Given the description of an element on the screen output the (x, y) to click on. 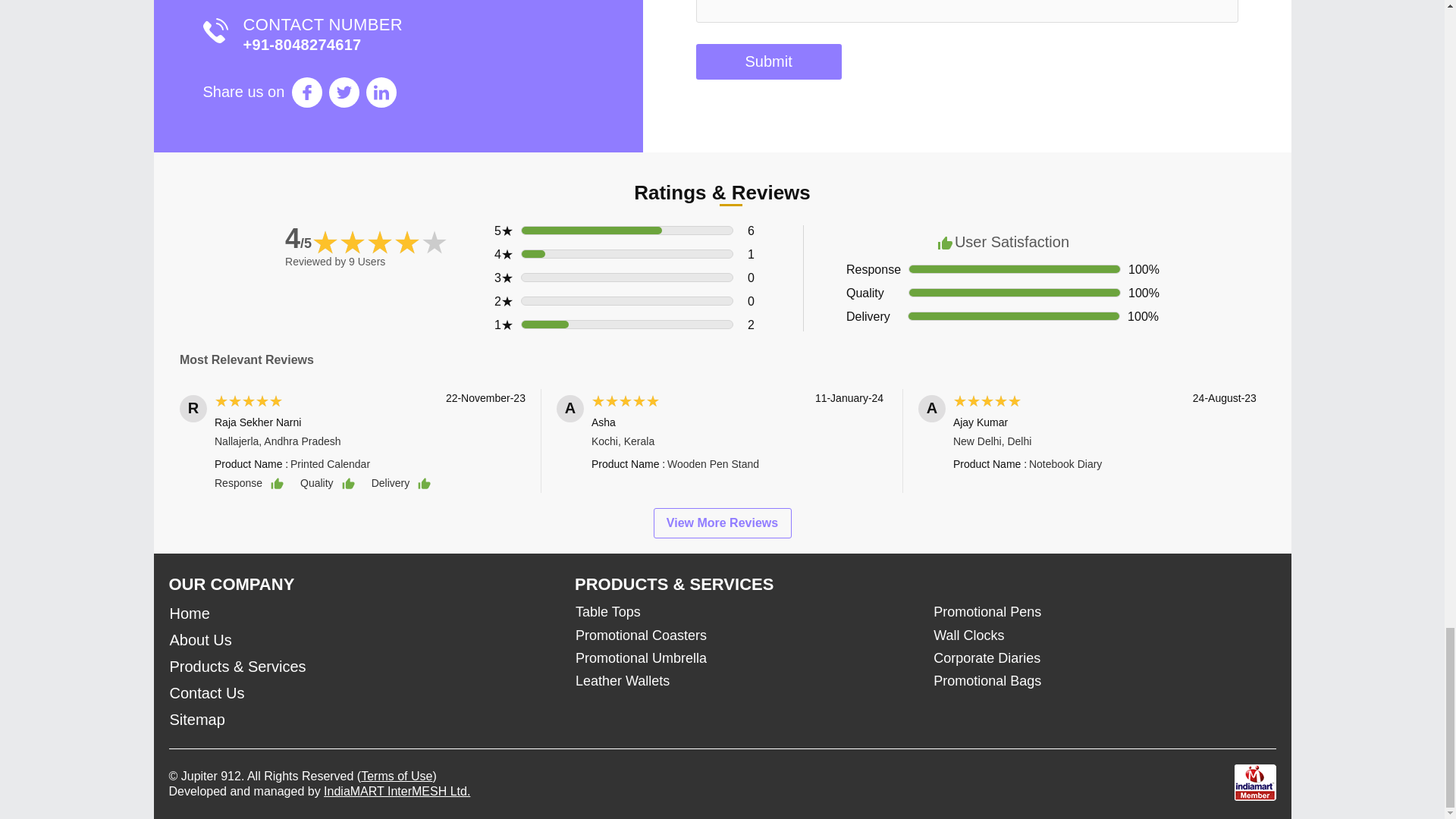
Submit (768, 61)
